Given the description of an element on the screen output the (x, y) to click on. 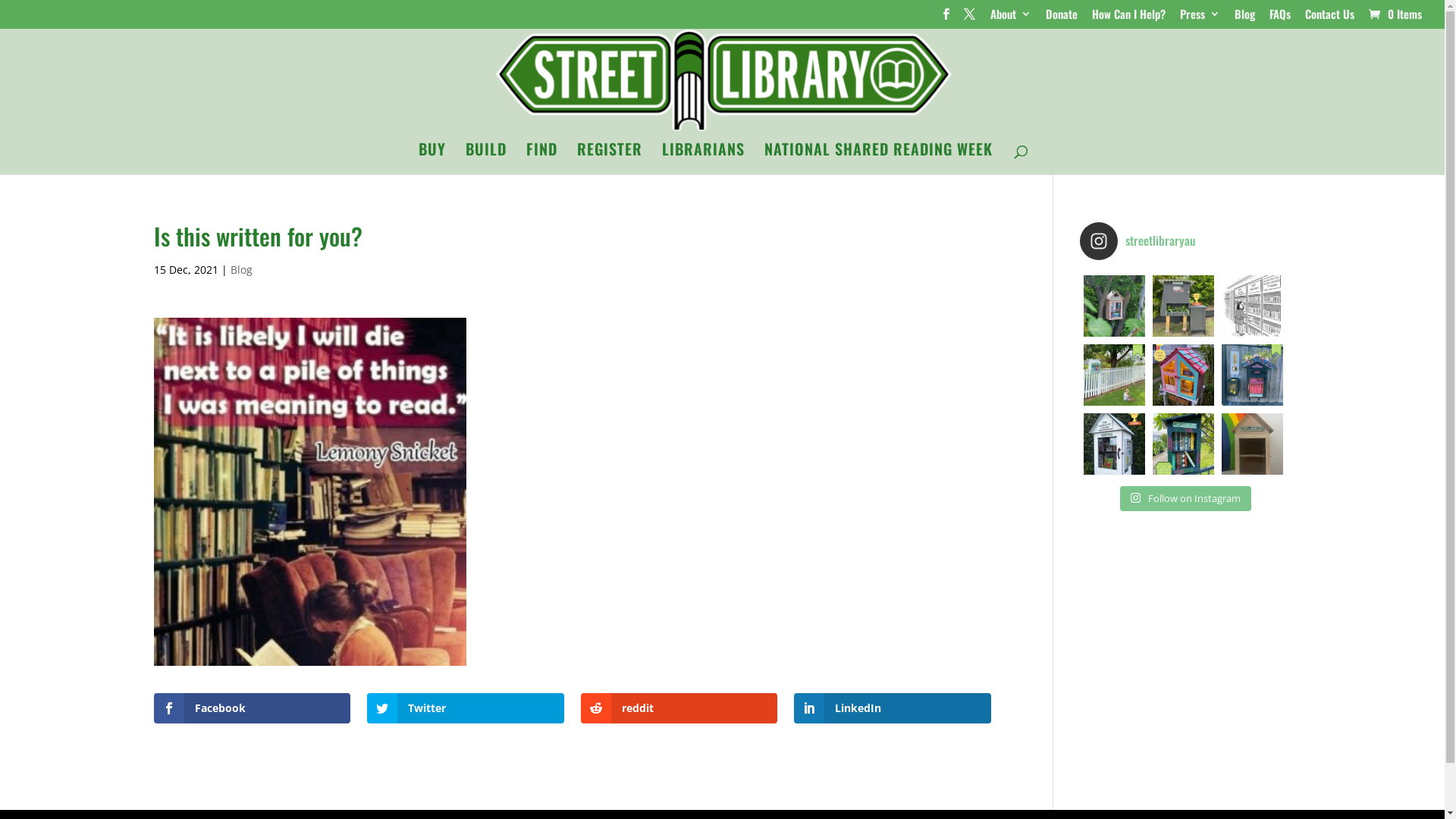
Blog Element type: text (1244, 18)
Contact Us Element type: text (1329, 18)
BUILD Element type: text (485, 157)
LinkedIn Element type: text (892, 708)
BUY Element type: text (431, 157)
streetlibraryau Element type: text (1182, 240)
REGISTER Element type: text (609, 157)
How Can I Help? Element type: text (1128, 18)
0 Items Element type: text (1393, 13)
Follow on Instagram Element type: text (1185, 498)
FIND Element type: text (541, 157)
Twitter Element type: text (465, 708)
Press Element type: text (1199, 18)
reddit Element type: text (679, 708)
About Element type: text (1010, 18)
Blog Element type: text (241, 269)
FAQs Element type: text (1279, 18)
LIBRARIANS Element type: text (703, 157)
NATIONAL SHARED READING WEEK Element type: text (878, 157)
Facebook Element type: text (251, 708)
Donate Element type: text (1061, 18)
